Given the description of an element on the screen output the (x, y) to click on. 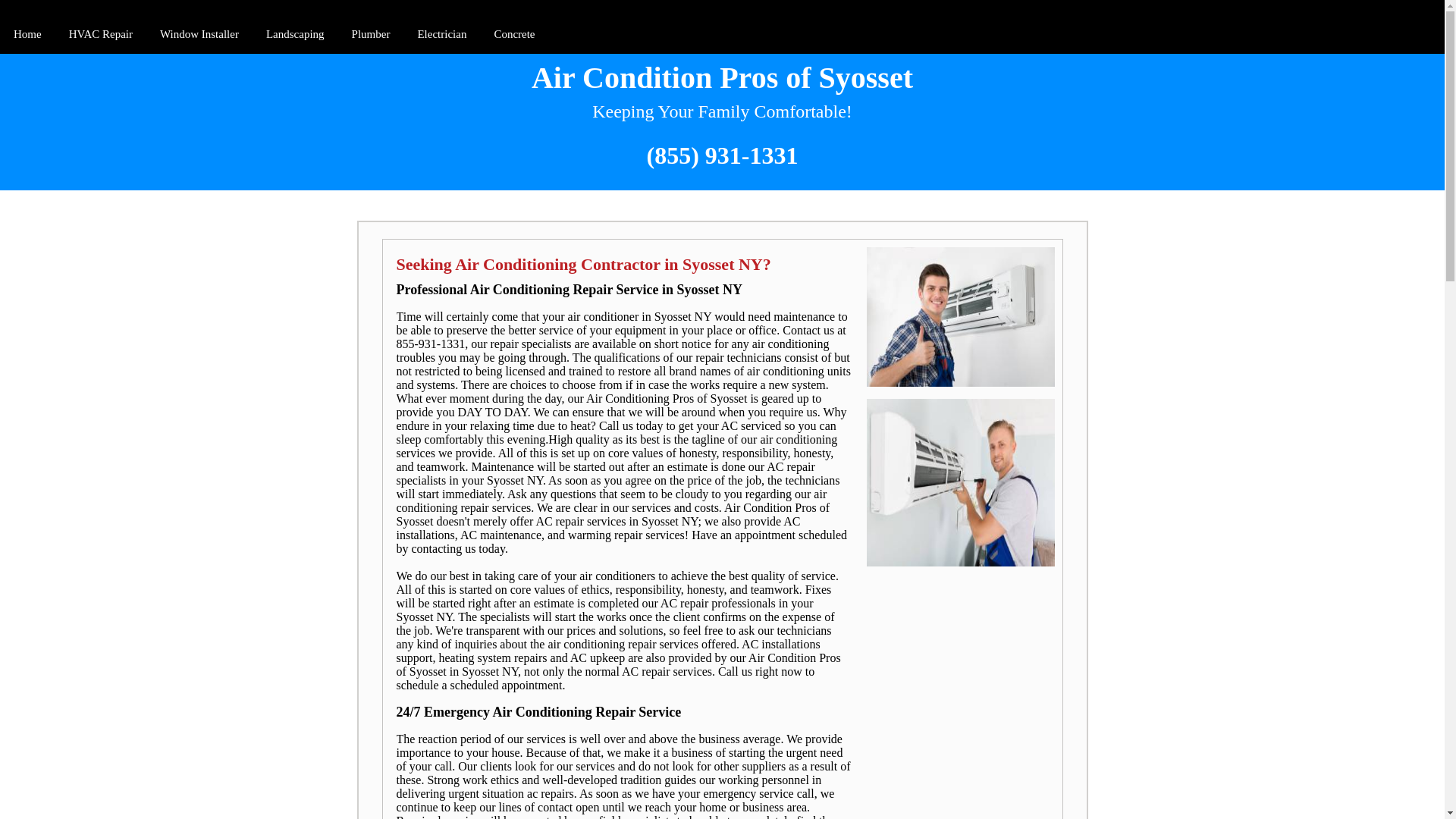
Electrician (441, 34)
HVAC Repair (100, 34)
Window Installer (199, 34)
Landscaping (295, 34)
Home (27, 34)
Plumber (370, 34)
Air Condition Pros of Syosset (721, 77)
Concrete (513, 34)
